Given the description of an element on the screen output the (x, y) to click on. 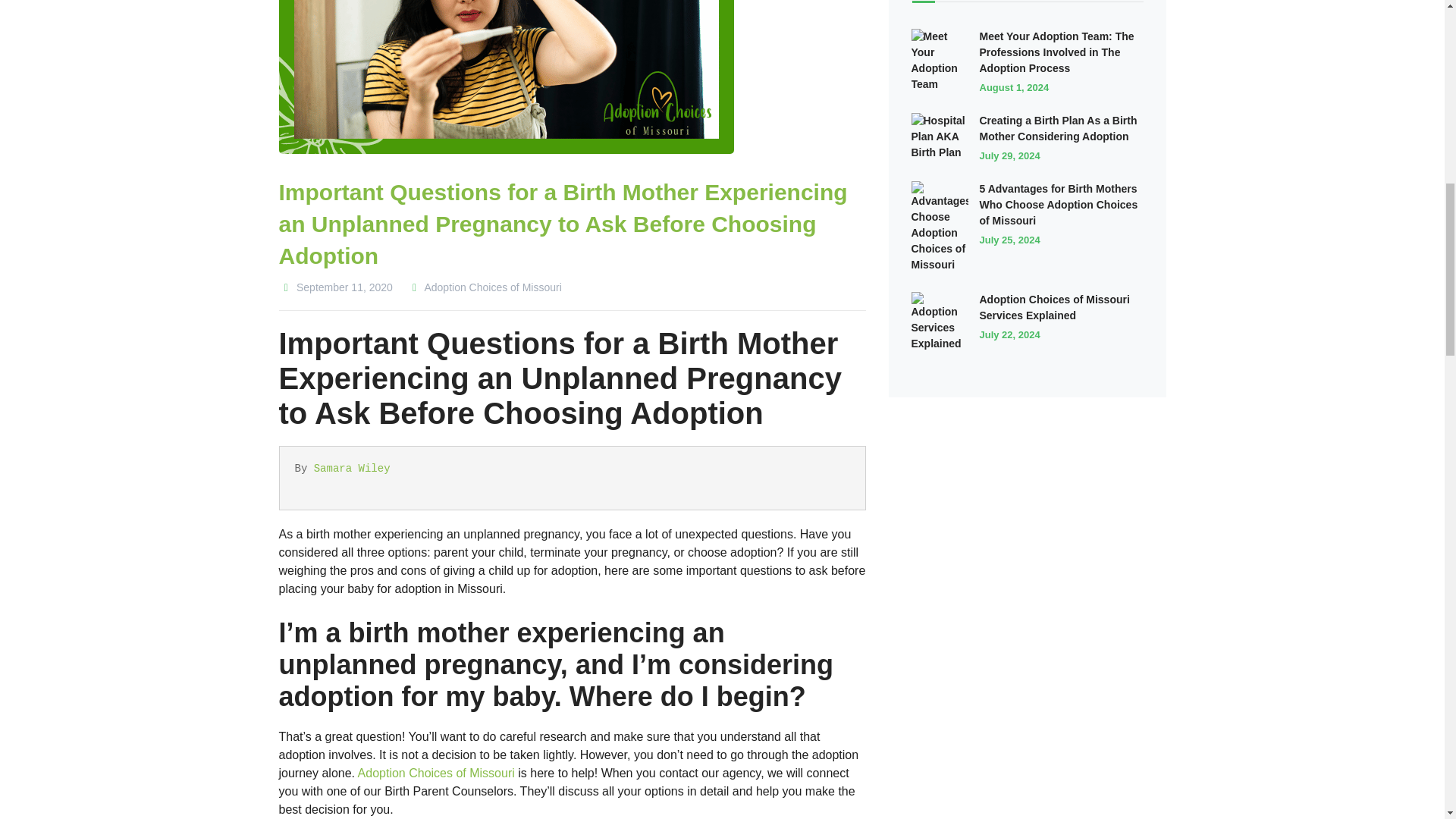
Posted by Adoption Choices of Missouri (484, 287)
Adoption Choices of Missouri (436, 772)
Samara Wiley (352, 468)
Adoption Choices of Missouri (484, 287)
September 11, 2020 (336, 287)
